Given the description of an element on the screen output the (x, y) to click on. 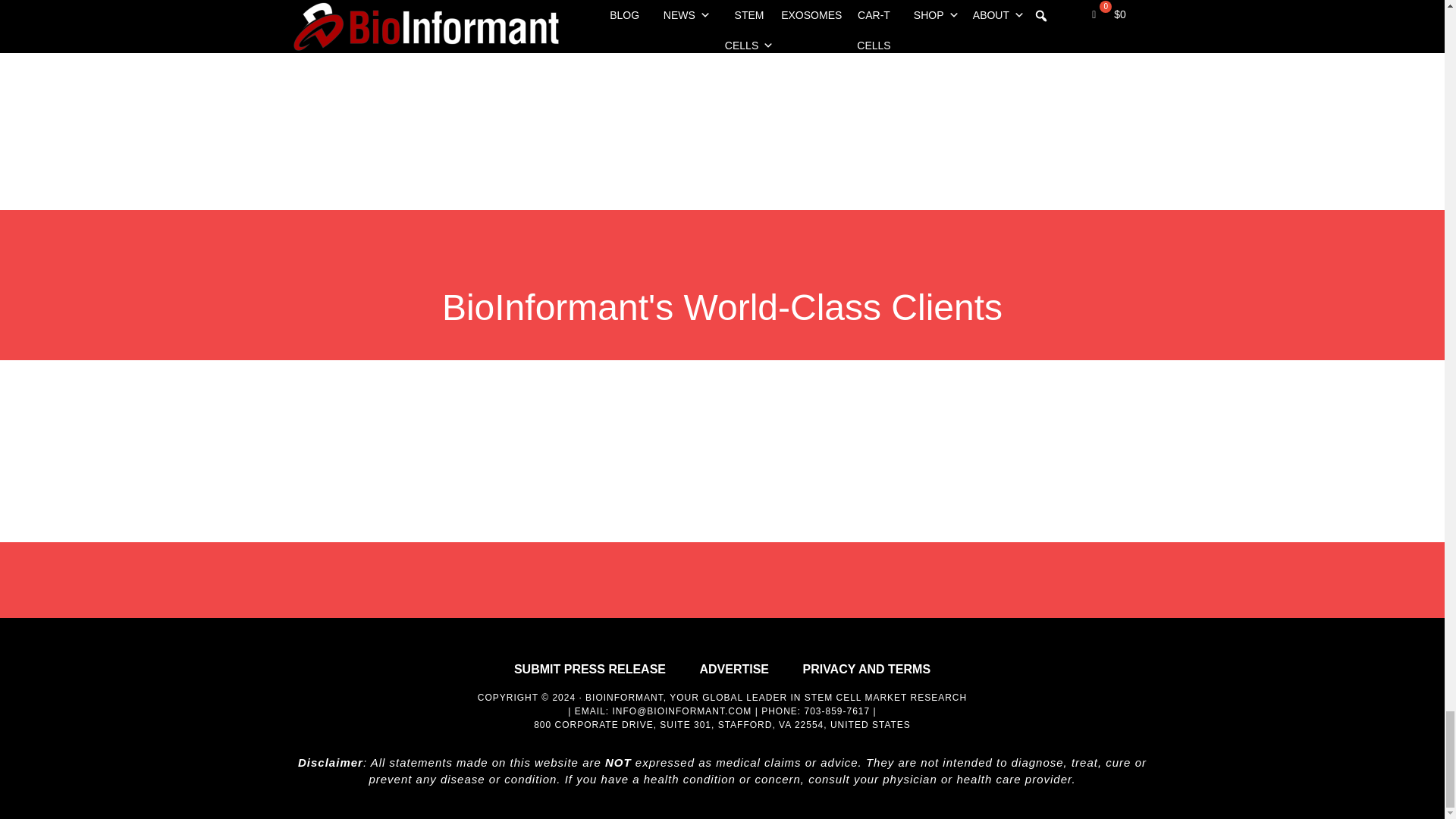
Comment Form (888, 63)
